Given the description of an element on the screen output the (x, y) to click on. 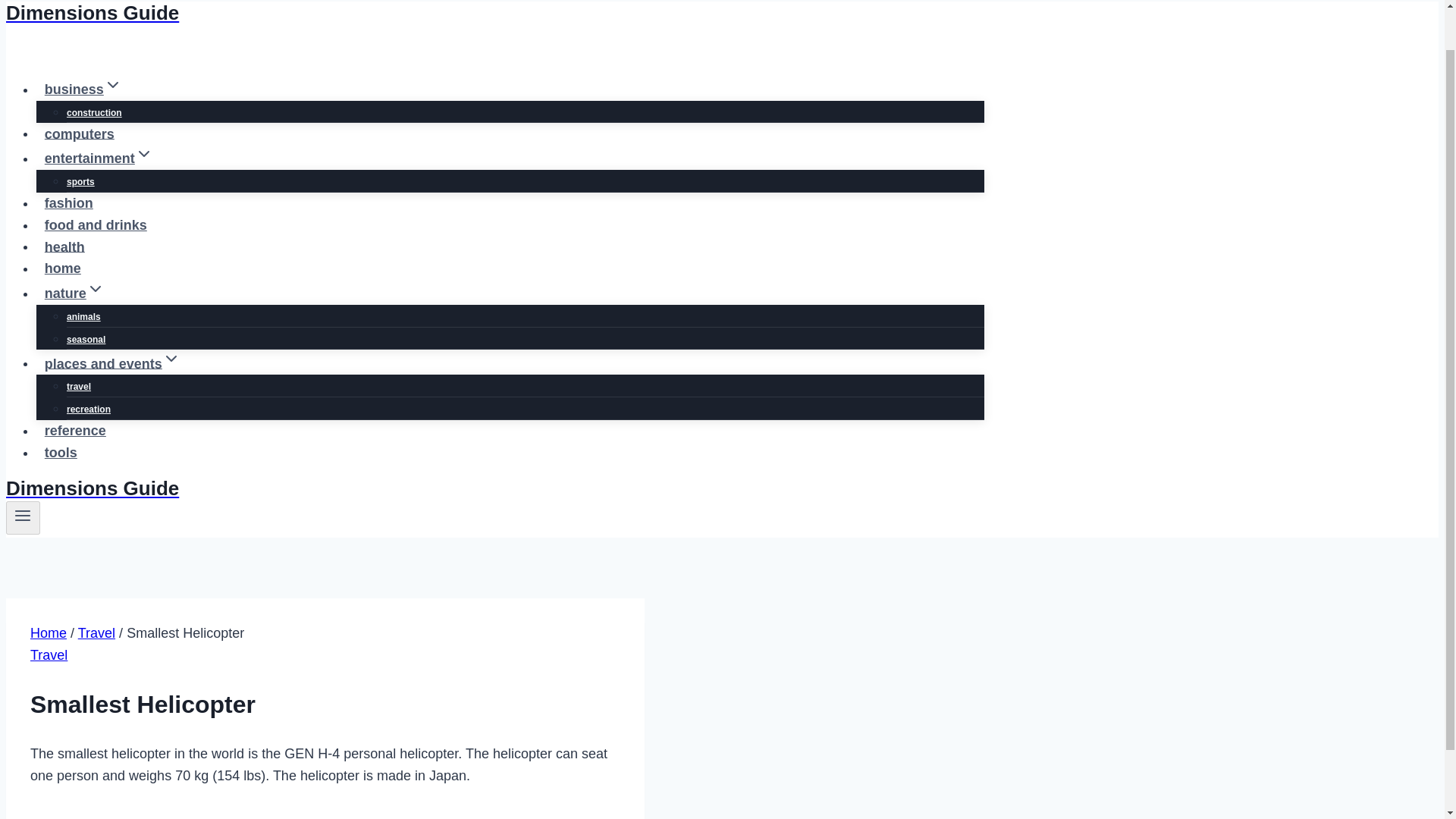
seasonal (85, 339)
Dimensions Guide (494, 13)
animals (83, 316)
expand (143, 153)
Toggle Menu (22, 515)
expand (94, 289)
expand (170, 358)
Home (48, 632)
recreation (88, 409)
tools (60, 452)
